Given the description of an element on the screen output the (x, y) to click on. 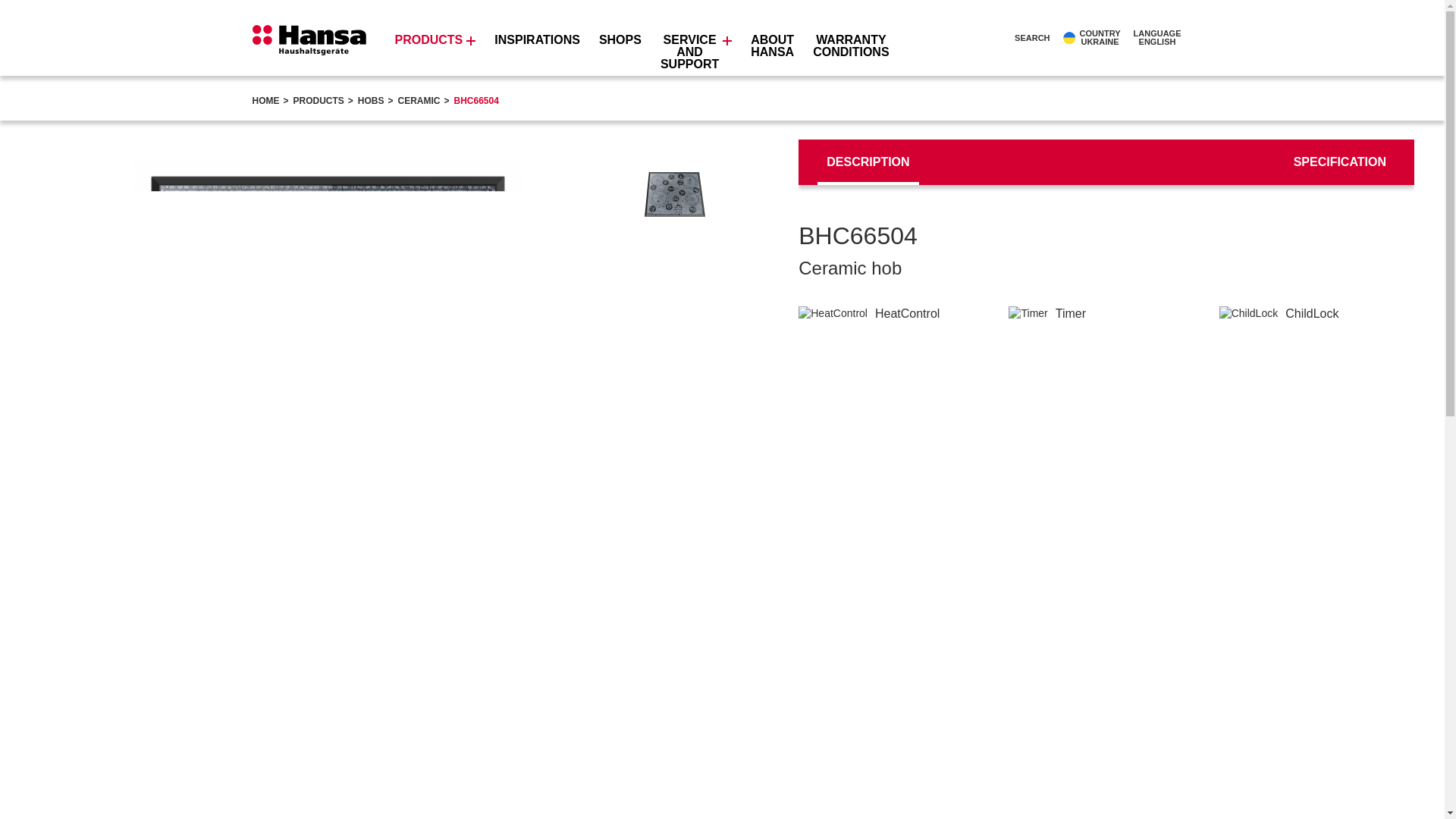
Home (1163, 37)
SEARCH (265, 100)
PRODUCTS (1023, 38)
Hansa (1091, 37)
